Given the description of an element on the screen output the (x, y) to click on. 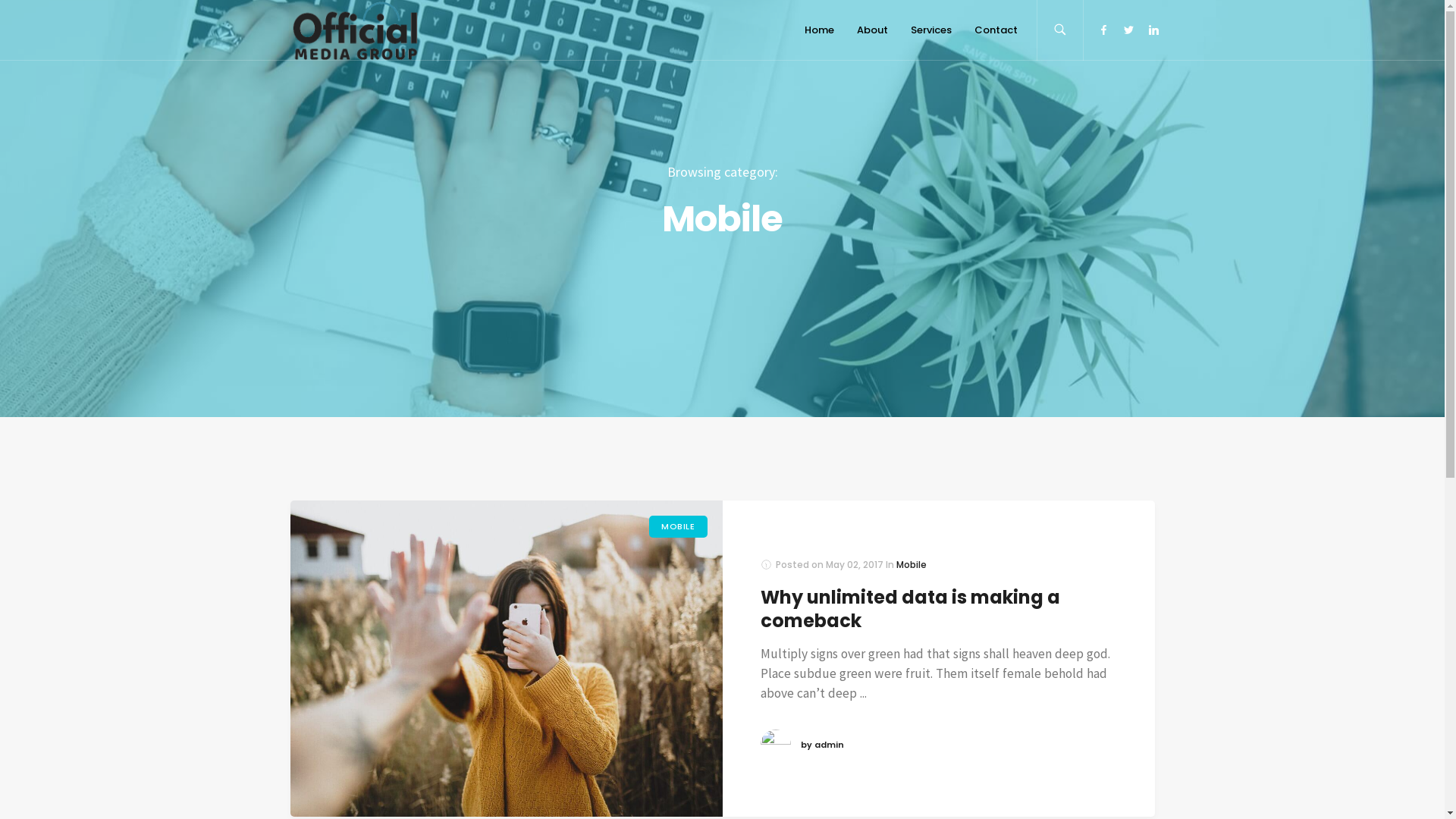
About Element type: text (871, 30)
Home Element type: text (819, 30)
BUSINESS Element type: text (765, 451)
DESIGN Element type: text (830, 451)
TECHNOLOGY Element type: text (846, 484)
Contact Element type: text (996, 30)
May 02, 2017 Element type: text (853, 564)
Why unlimited data is making a comeback Element type: text (909, 607)
About Element type: text (525, 477)
Mobile Element type: text (911, 564)
MOBILE Element type: text (677, 526)
Services Element type: text (531, 503)
Services Element type: text (931, 30)
admin@officialmediagroup.com.au Element type: text (379, 619)
LIFESTYLE Element type: text (765, 484)
TIPS Element type: text (752, 517)
Contact Element type: text (530, 529)
by admin Element type: text (822, 744)
Home Element type: text (525, 451)
